Given the description of an element on the screen output the (x, y) to click on. 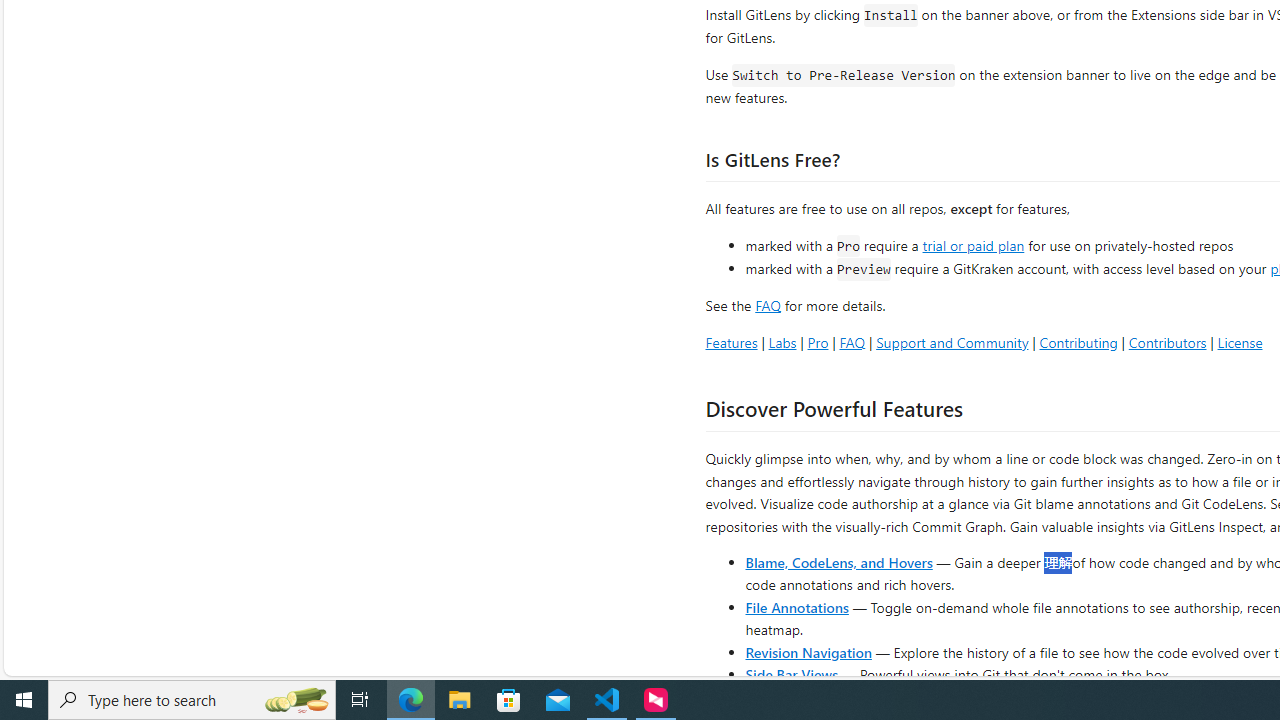
Contributors (1167, 341)
Revision Navigation (807, 651)
Side Bar Views (791, 673)
FAQ (852, 341)
File Annotations (796, 606)
License (1240, 341)
Support and Community (952, 341)
Contributing (1078, 341)
Features (731, 341)
Labs (782, 341)
Pro (817, 341)
trial or paid plan (973, 244)
Blame, CodeLens, and Hovers (838, 561)
